Given the description of an element on the screen output the (x, y) to click on. 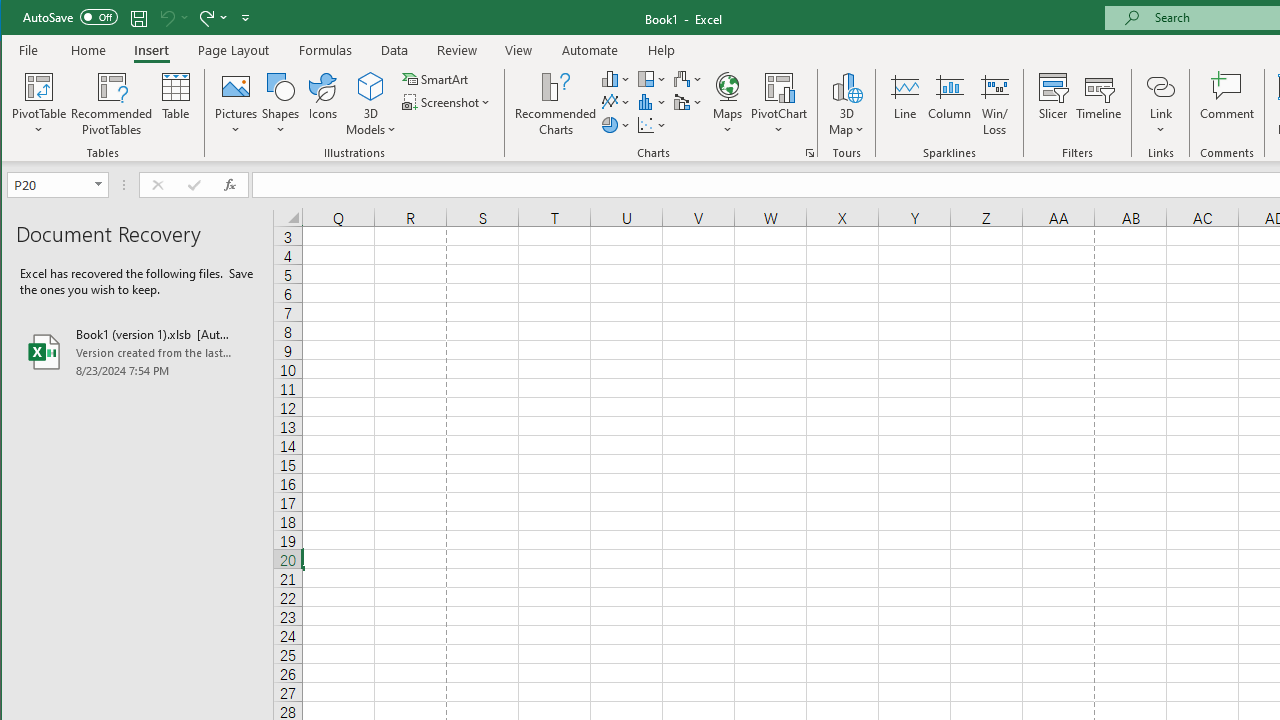
Win/Loss (995, 104)
PivotTable (39, 104)
PivotChart (779, 104)
Insert Hierarchy Chart (652, 78)
Column (949, 104)
Link (1160, 104)
Icons (323, 104)
Insert Waterfall, Funnel, Stock, Surface, or Radar Chart (688, 78)
Recommended Charts (809, 152)
Pictures (235, 104)
